Given the description of an element on the screen output the (x, y) to click on. 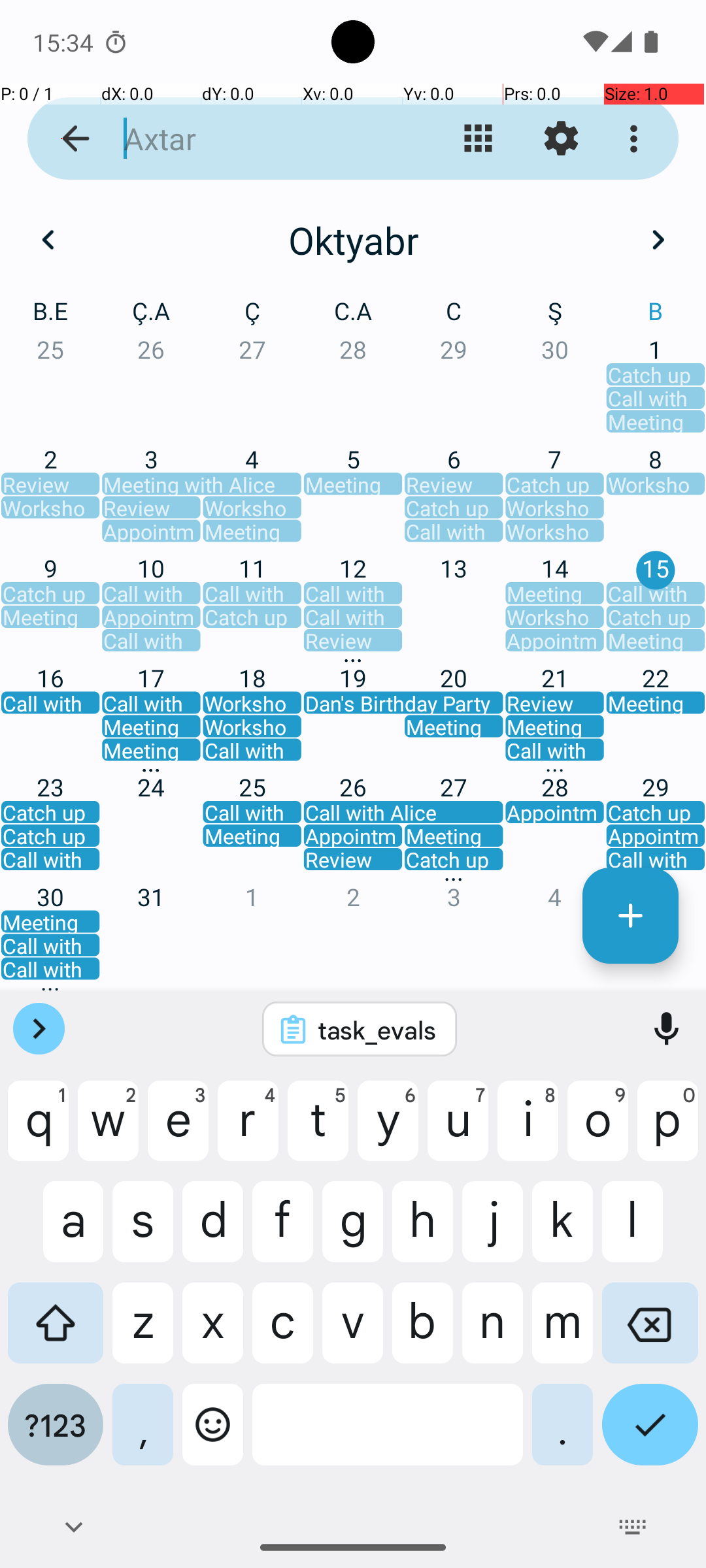
Axtar Element type: android.widget.EditText (252, 138)
Görünüşü dəyiş Element type: android.widget.Button (477, 138)
Digər seçimlər Element type: android.widget.ImageView (636, 138)
Yeni Hadisə Element type: android.widget.ImageButton (630, 915)
Oktyabr Element type: android.widget.TextView (352, 239)
